Given the description of an element on the screen output the (x, y) to click on. 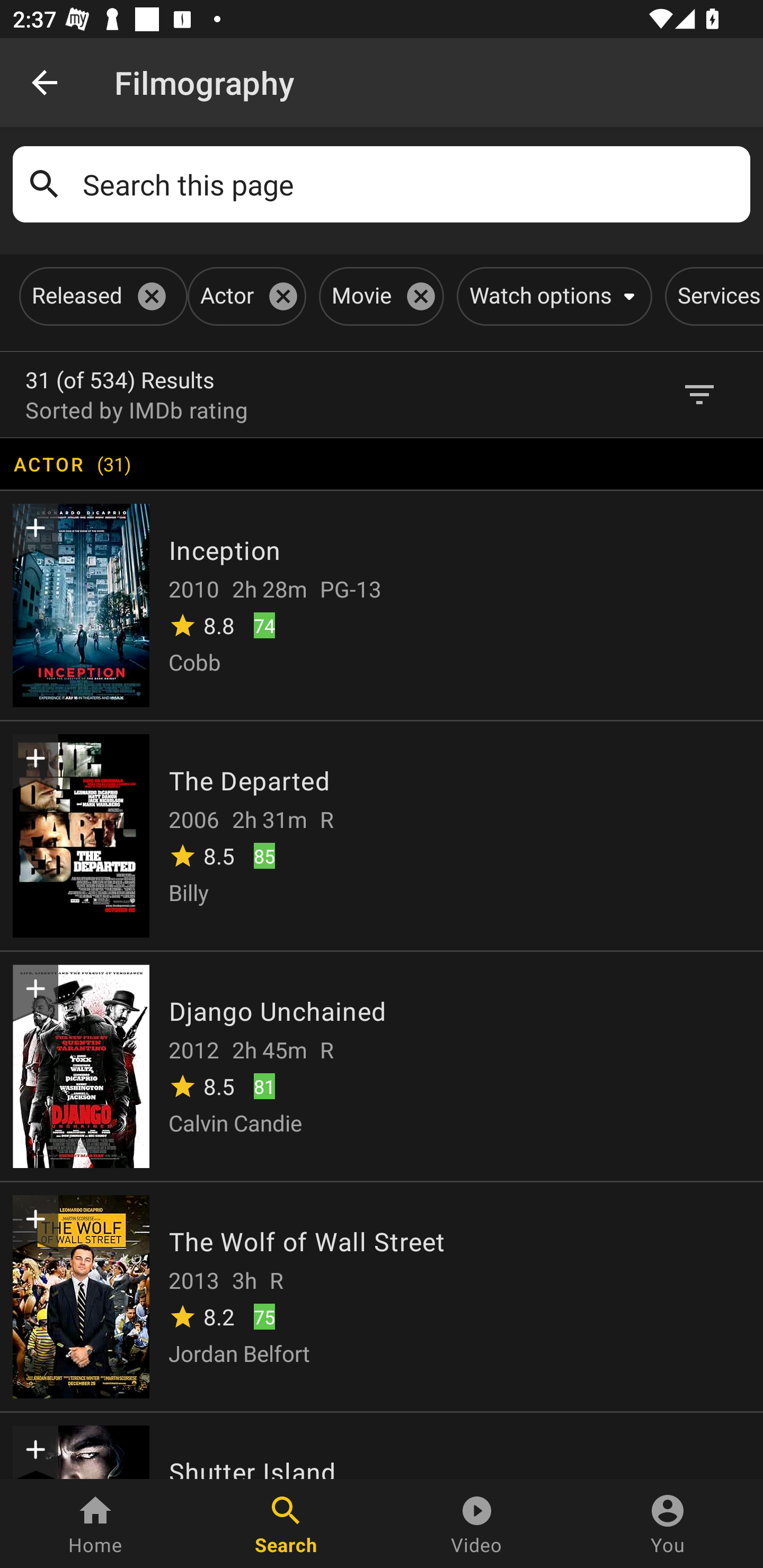
Search this page (410, 184)
Released (100, 296)
Actor (243, 296)
Movie (377, 296)
Watch options (551, 296)
Services (714, 296)
Inception 2010 2h 28m PG-13 8.8 74 Cobb (381, 604)
The Departed 2006 2h 31m R 8.5 85 Billy (381, 834)
Home (95, 1523)
Video (476, 1523)
You (667, 1523)
